Given the description of an element on the screen output the (x, y) to click on. 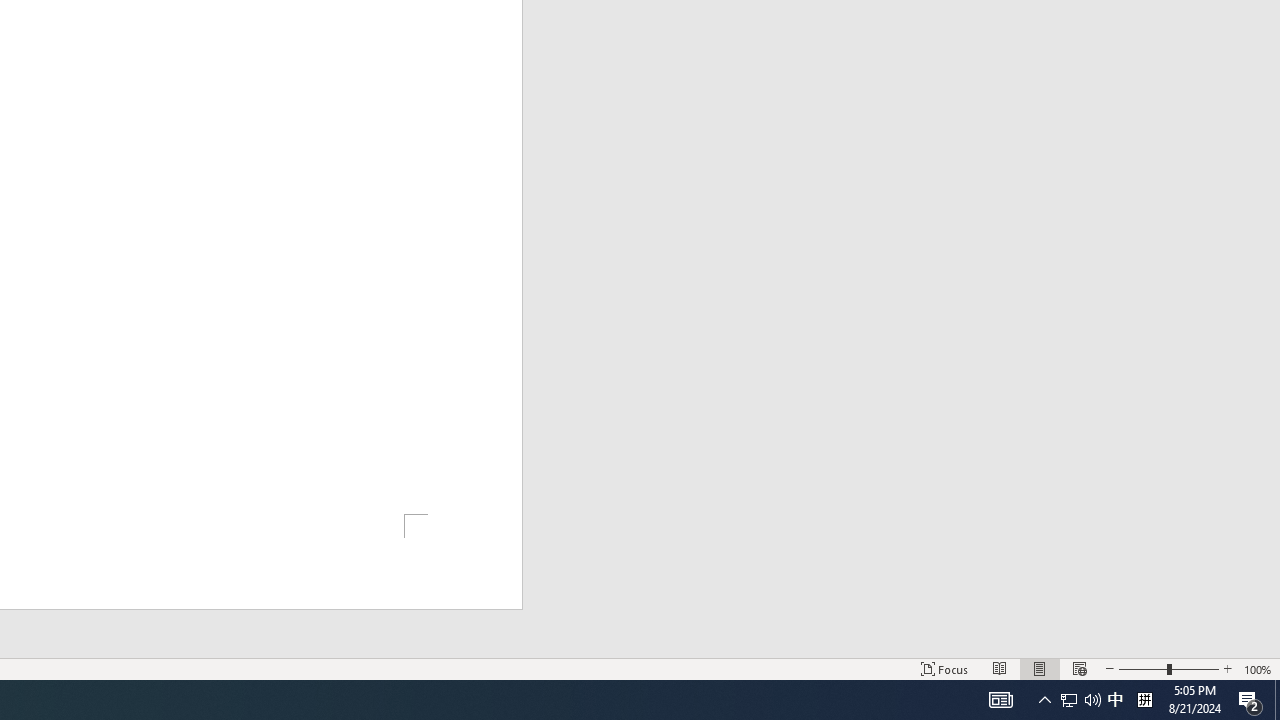
Zoom 100% (1258, 668)
